Given the description of an element on the screen output the (x, y) to click on. 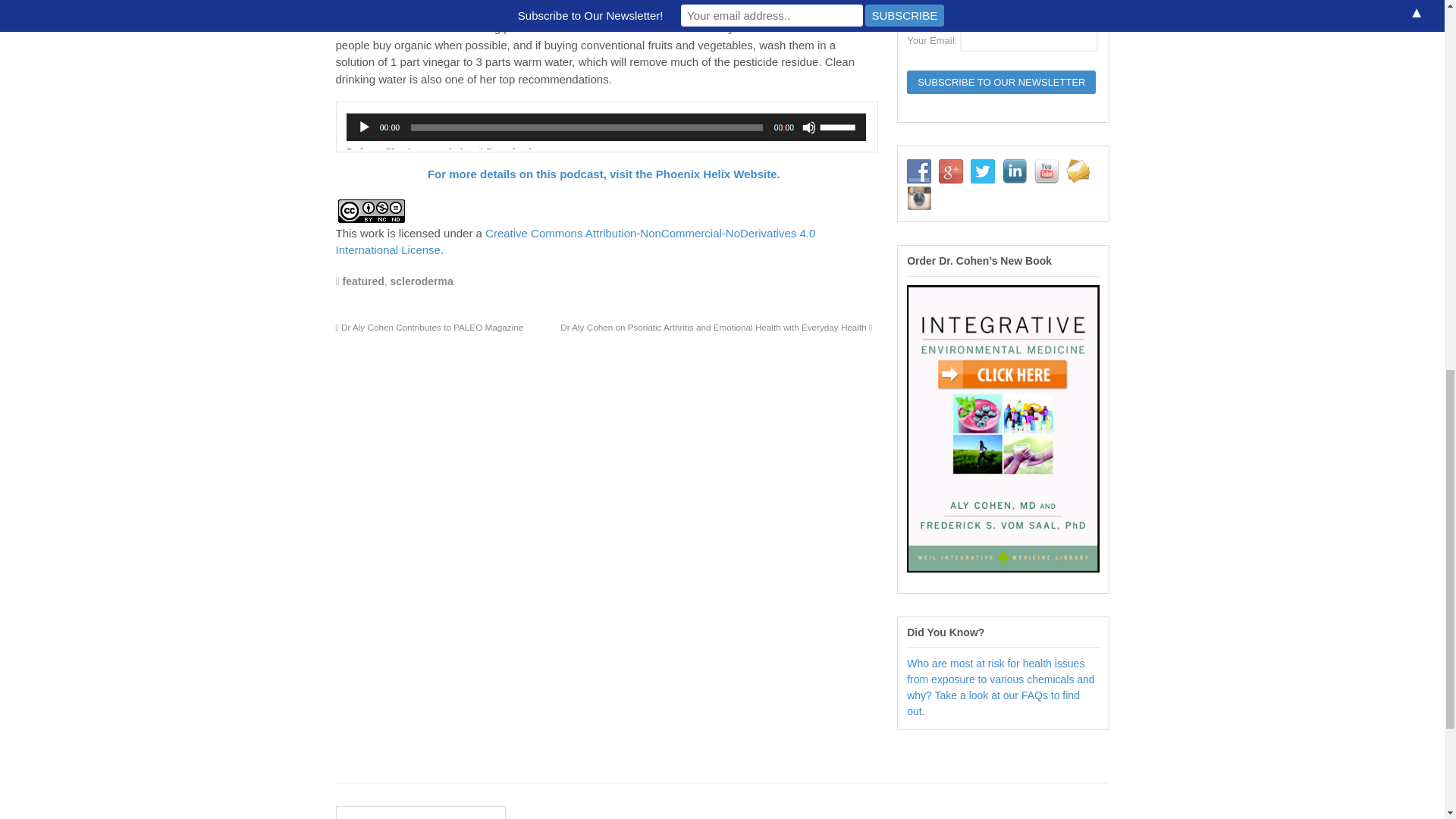
Follow Us on Facebook (919, 170)
Follow Us on YouTube (1045, 170)
Follow Us on E-mail (1077, 170)
Follow Us on LinkedIn (1014, 170)
Subscribe to our Newsletter (1001, 82)
featured (363, 281)
Follow Us on Twitter (982, 170)
Follow Us on Instagram (919, 197)
